Given the description of an element on the screen output the (x, y) to click on. 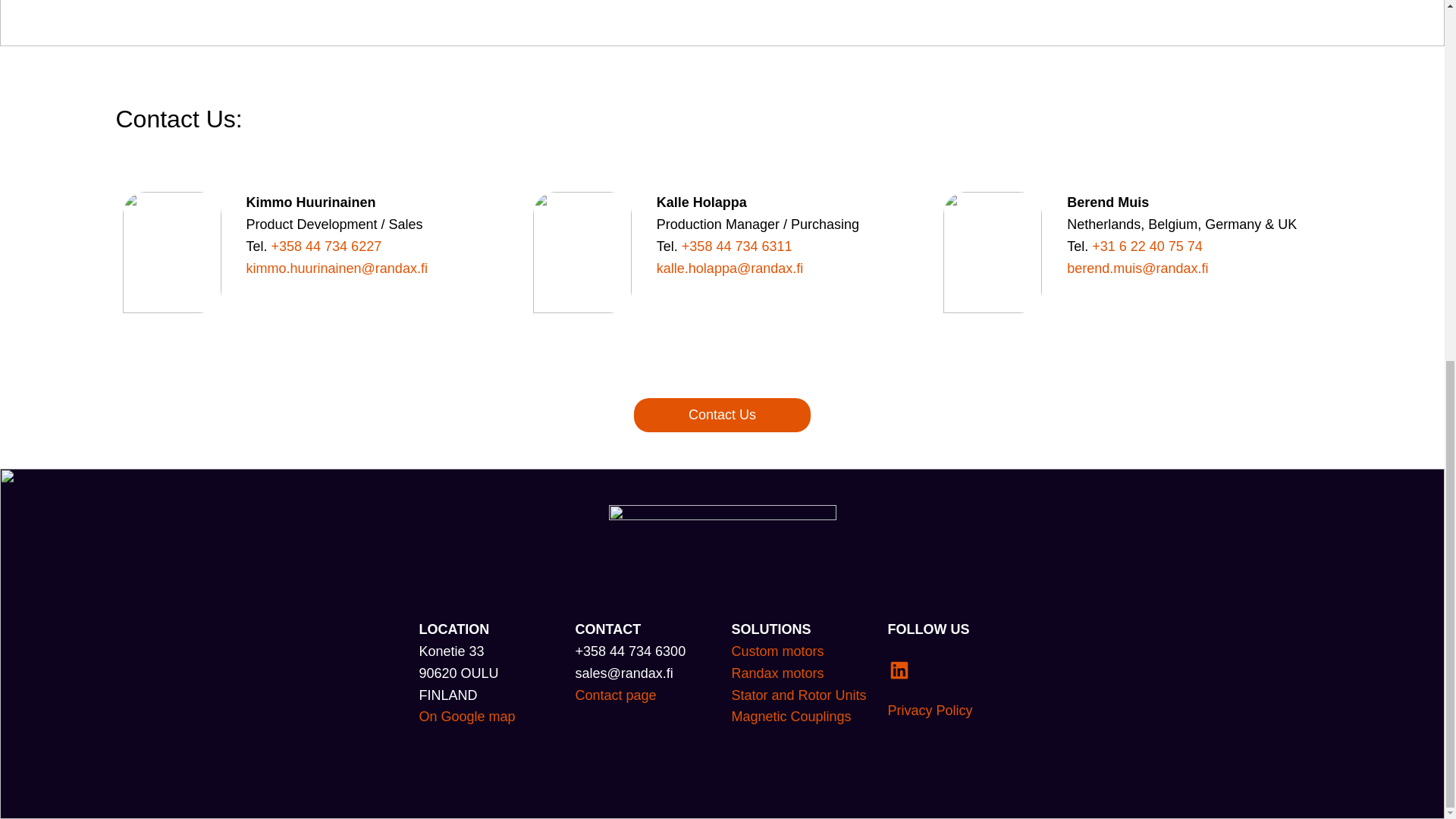
Magnetic Couplings (790, 716)
Randax motors (777, 672)
On Google map (467, 716)
Stator and Rotor Units (798, 694)
Contact Us (721, 415)
Custom motors (777, 651)
LinkedIn (898, 670)
Privacy Policy (929, 710)
Contact page (615, 694)
